Given the description of an element on the screen output the (x, y) to click on. 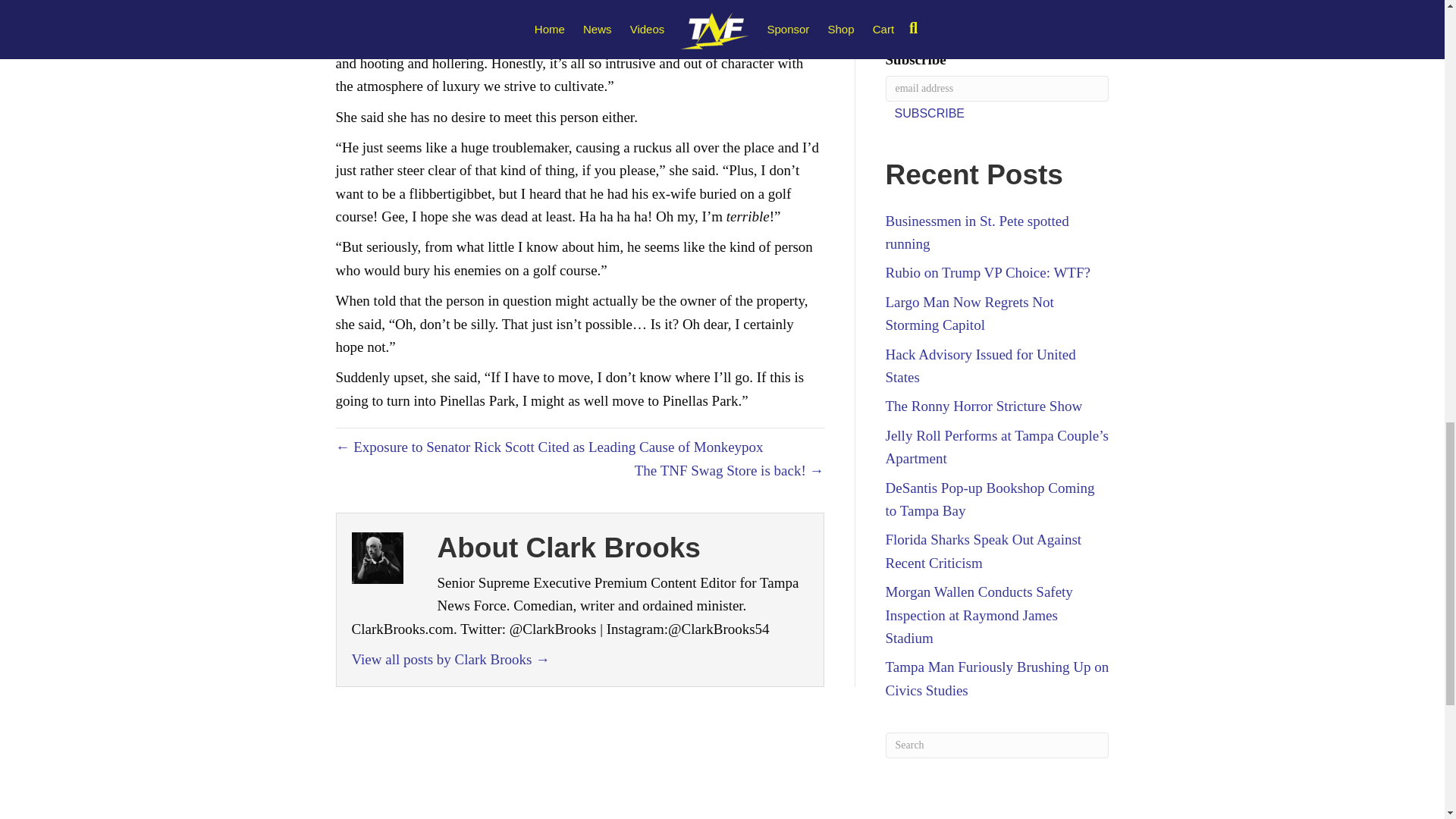
DeSantis Pop-up Bookshop Coming to Tampa Bay (989, 498)
Florida Sharks Speak Out Against Recent Criticism (983, 550)
Largo Man Now Regrets Not Storming Capitol (969, 313)
Subscribe (929, 113)
Hack Advisory Issued for United States (980, 365)
Rubio on Trump VP Choice: WTF? (987, 272)
Tampa Man Furiously Brushing Up on Civics Studies (997, 678)
Businessmen in St. Pete spotted running (976, 231)
Subscribe (929, 113)
Type and press Enter to search. (997, 745)
The Ronny Horror Stricture Show (984, 406)
